Given the description of an element on the screen output the (x, y) to click on. 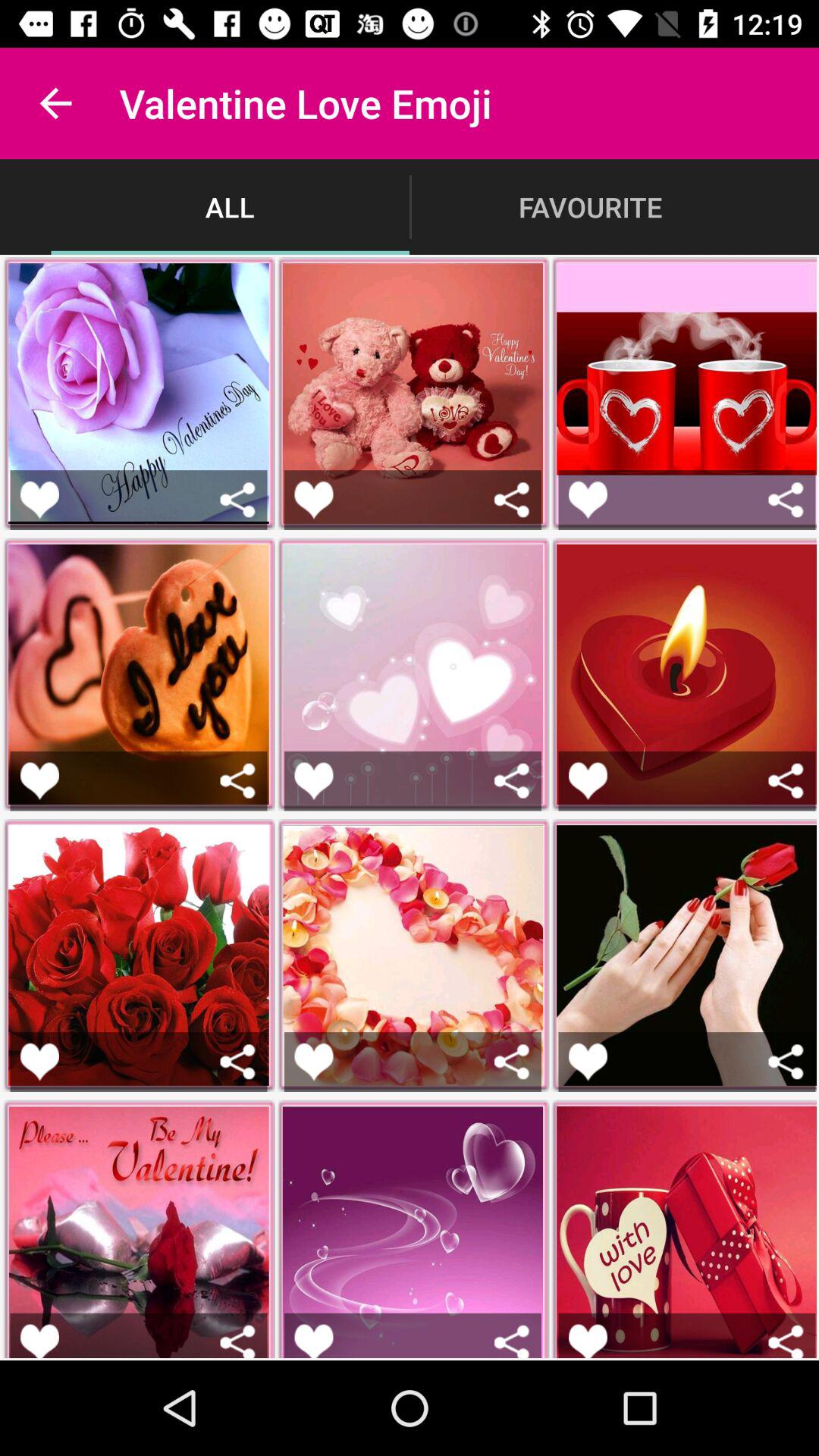
like/save (313, 780)
